Given the description of an element on the screen output the (x, y) to click on. 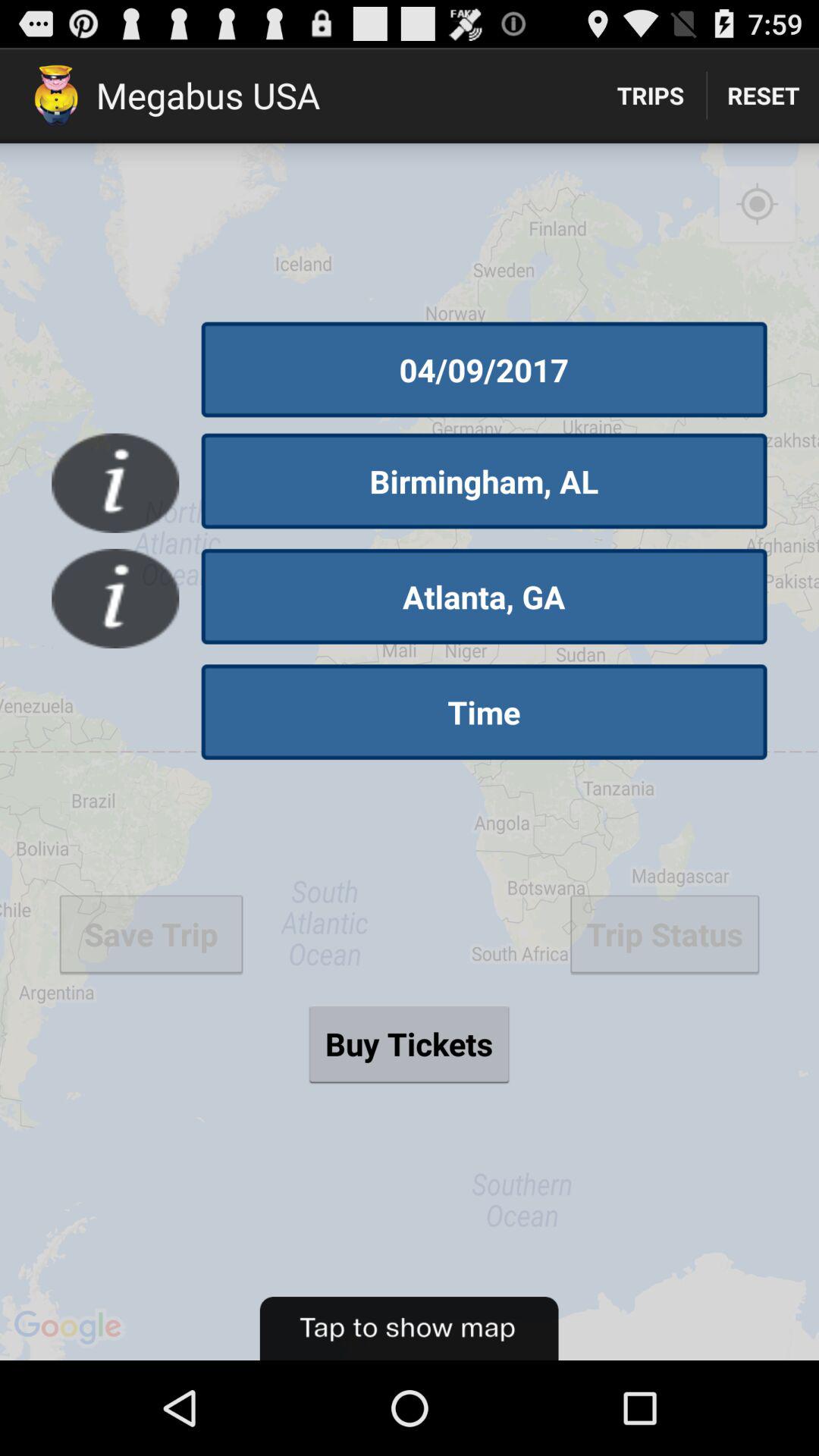
press icon below the reset (757, 204)
